Given the description of an element on the screen output the (x, y) to click on. 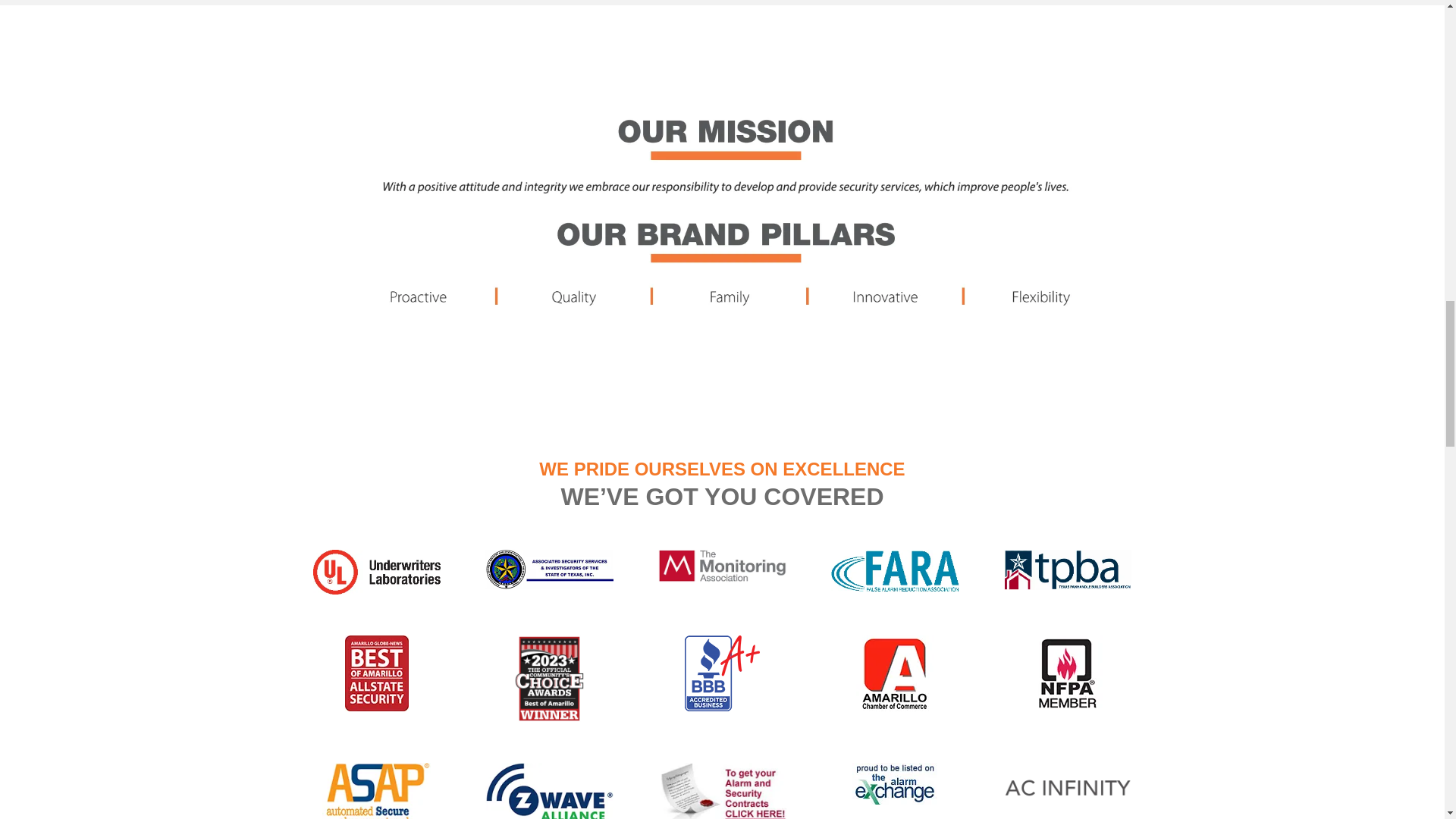
tpba (1067, 569)
assist (548, 568)
underlab (376, 571)
bbb (722, 673)
fara (894, 570)
monitoringassociation (722, 565)
